Given the description of an element on the screen output the (x, y) to click on. 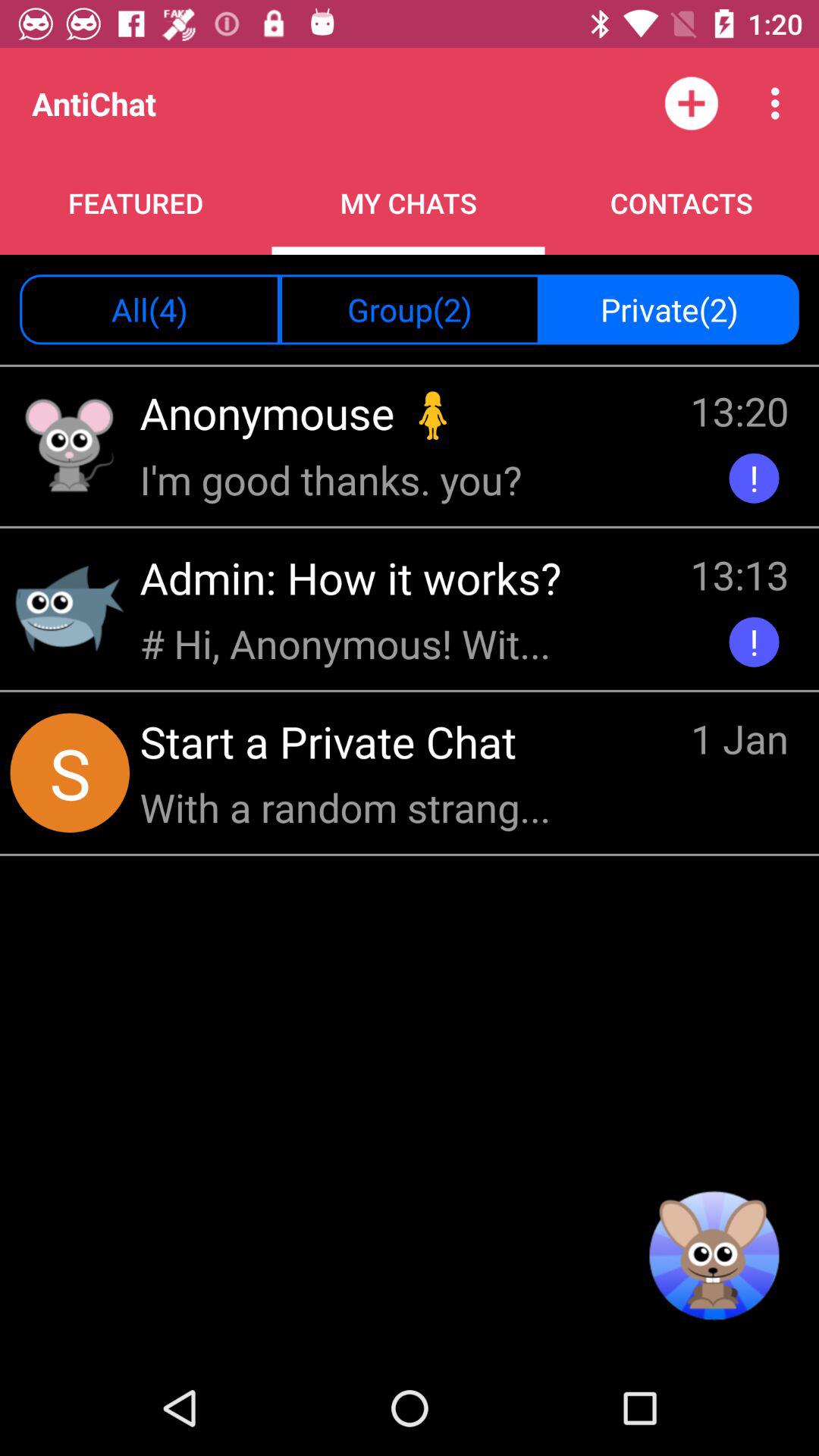
choose icon next to group(2) item (669, 309)
